Given the description of an element on the screen output the (x, y) to click on. 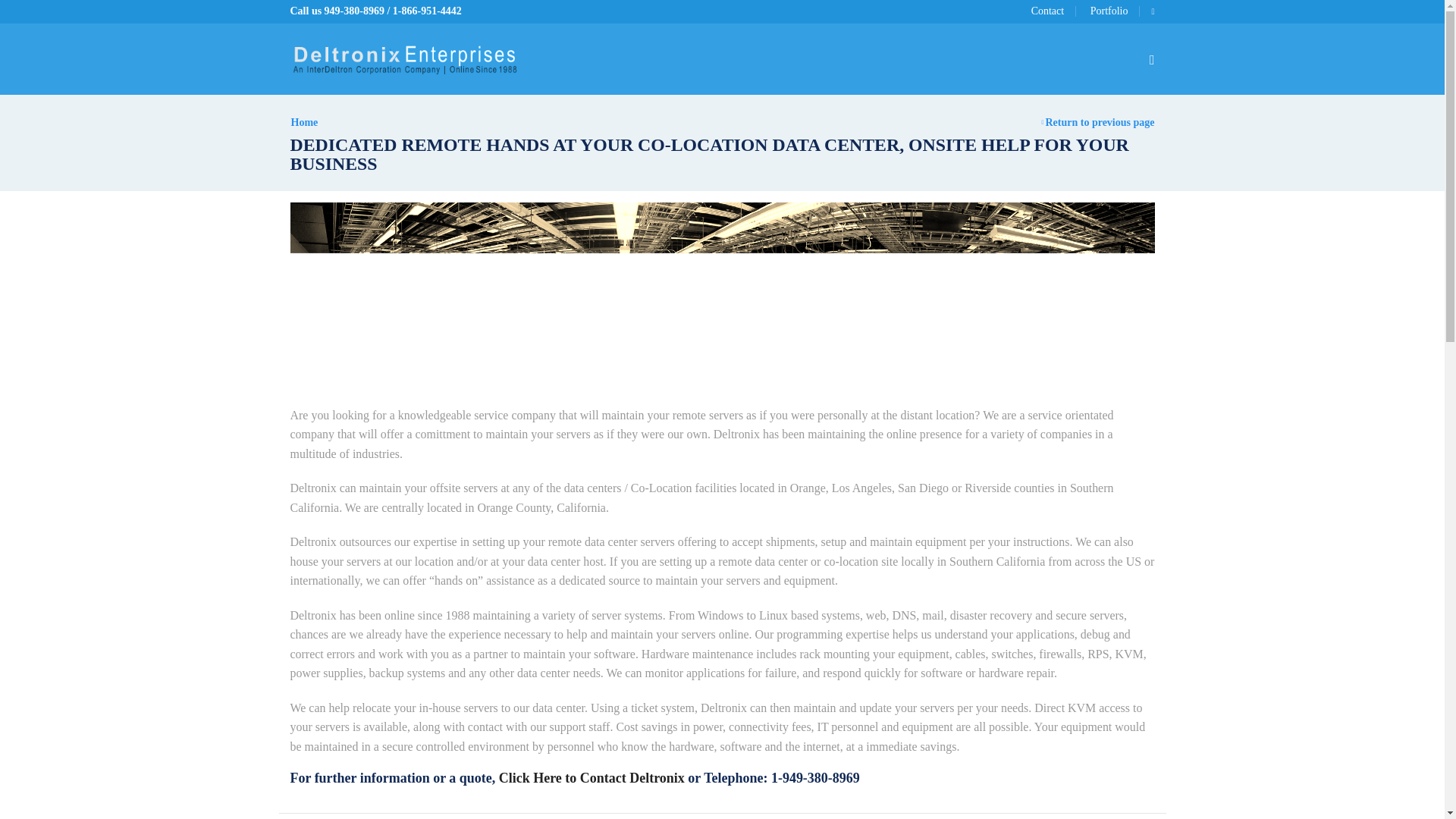
Return to previous page (1099, 122)
Click Here to Contact Deltronix (591, 777)
Portfolio (1103, 10)
Home (303, 122)
Contact (1052, 10)
